Given the description of an element on the screen output the (x, y) to click on. 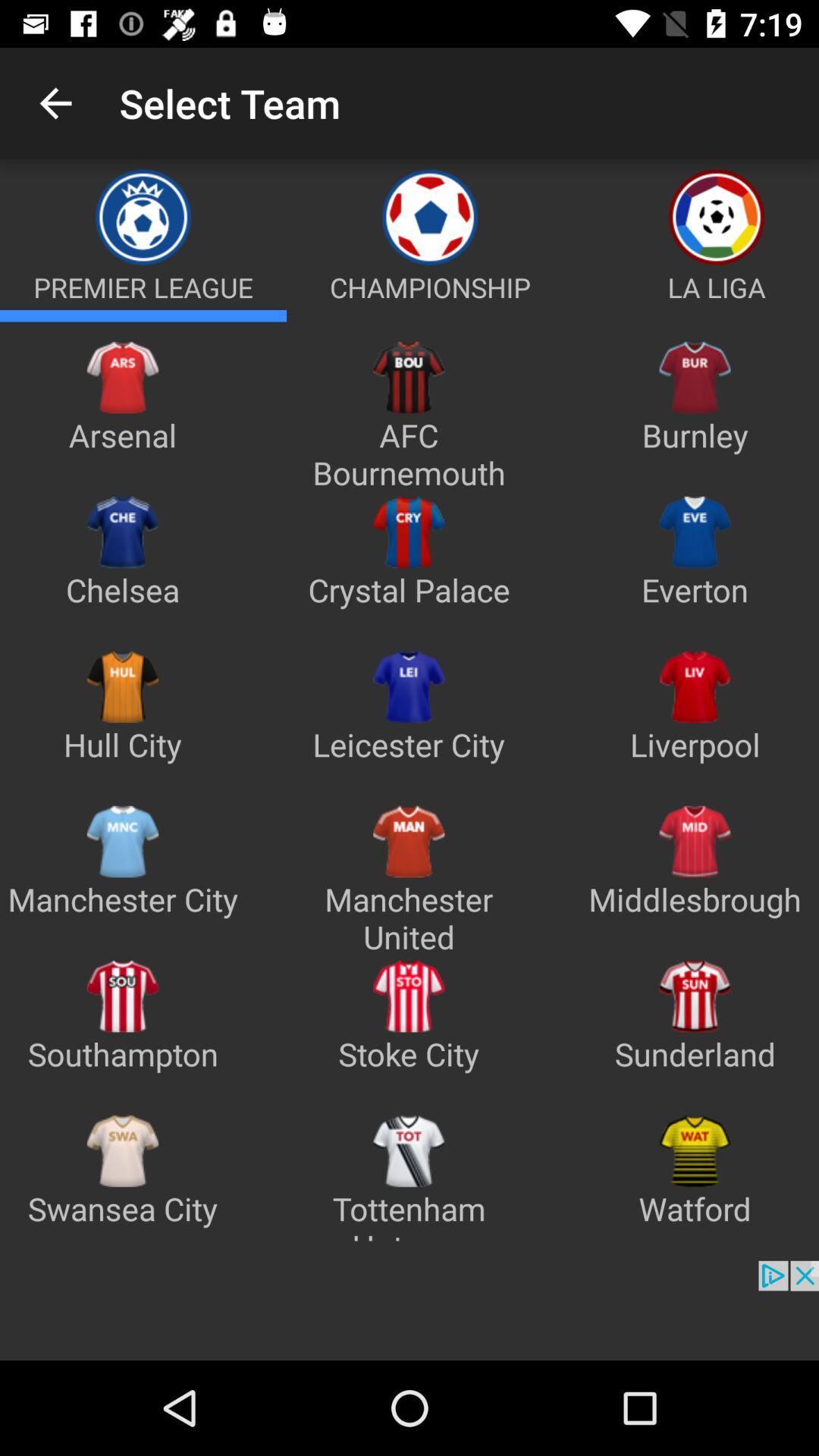
select league (143, 315)
